Given the description of an element on the screen output the (x, y) to click on. 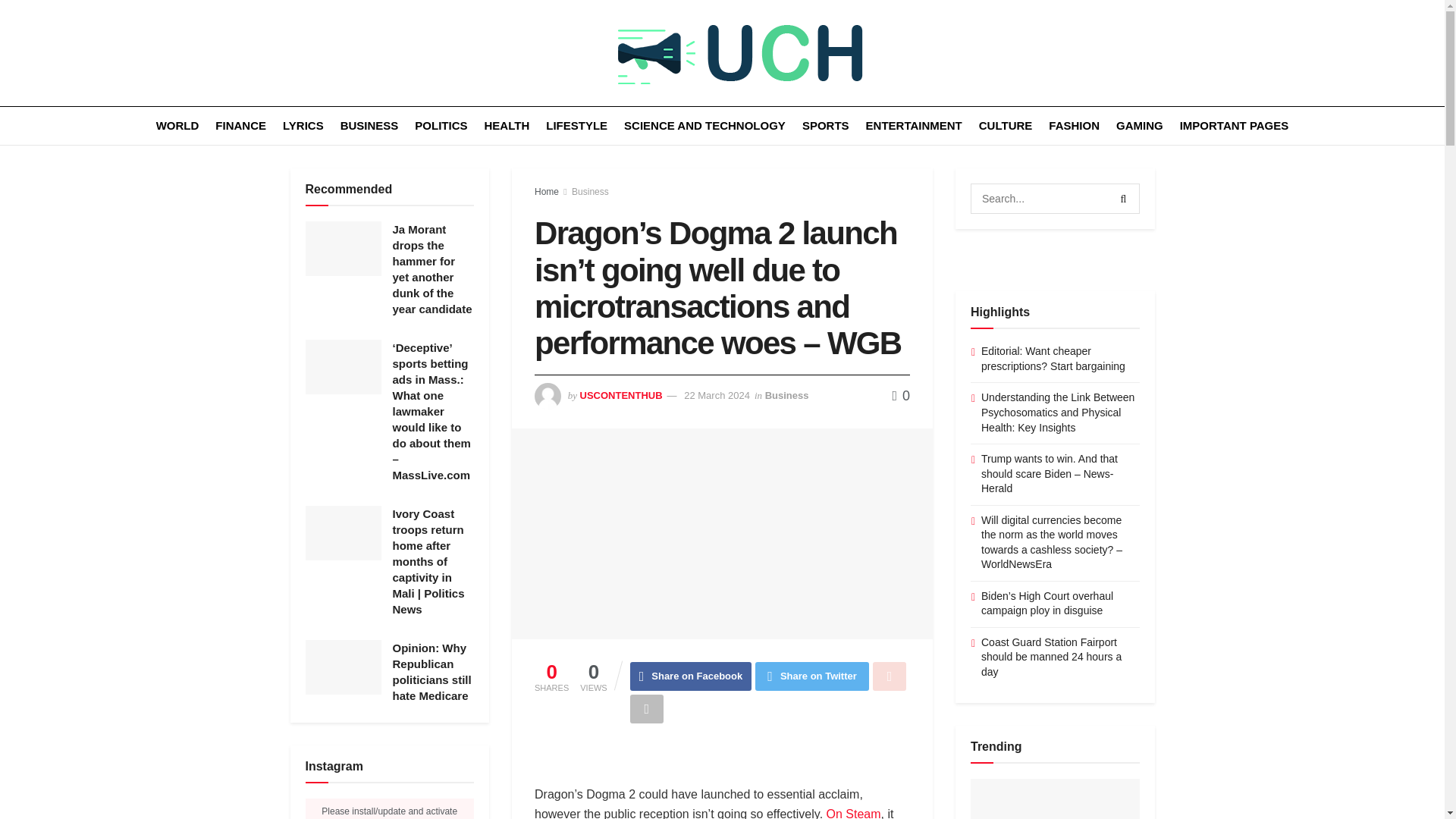
Business (787, 395)
CULTURE (1005, 125)
GAMING (1139, 125)
HEALTH (506, 125)
USCONTENTHUB (620, 395)
SPORTS (825, 125)
LYRICS (302, 125)
Business (590, 191)
POLITICS (440, 125)
WORLD (177, 125)
LIFESTYLE (576, 125)
Share on Twitter (812, 676)
22 March 2024 (716, 395)
On Steam (853, 813)
Home (546, 191)
